Given the description of an element on the screen output the (x, y) to click on. 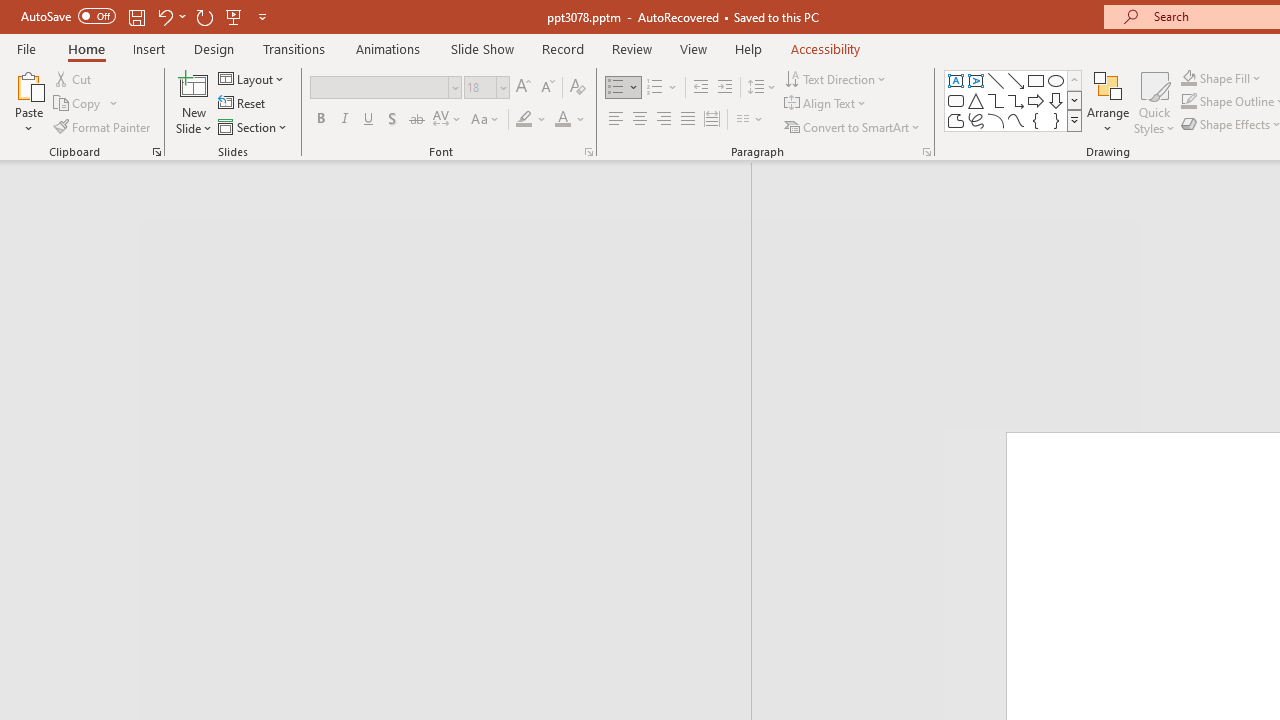
Increase Font Size (522, 87)
Office Clipboard... (156, 151)
Center (639, 119)
Justify (687, 119)
Freeform: Scribble (975, 120)
Font... (588, 151)
Format Painter (103, 126)
Underline (369, 119)
